Given the description of an element on the screen output the (x, y) to click on. 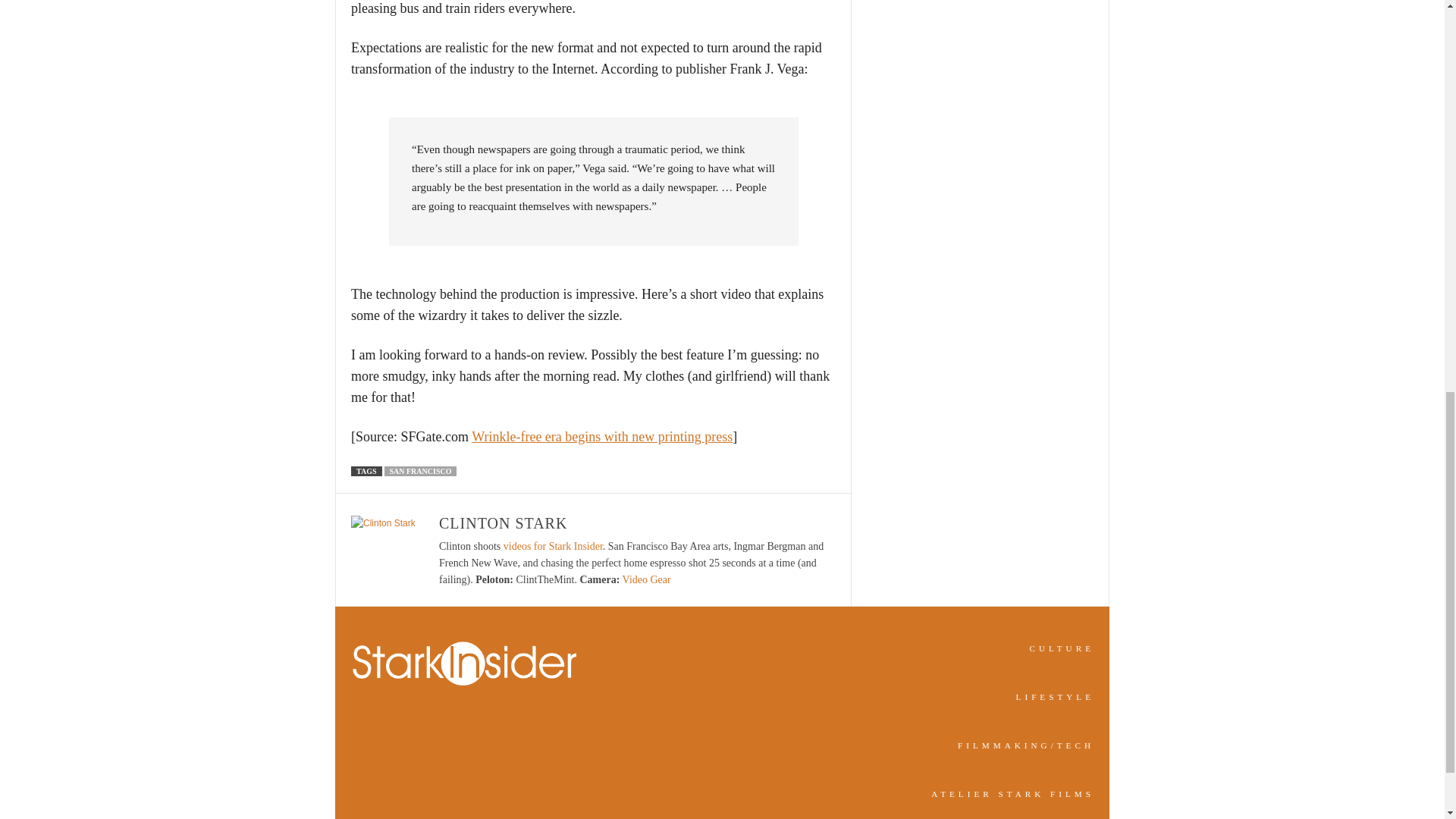
SAN FRANCISCO (420, 470)
CLINTON STARK (503, 523)
Video Gear (647, 579)
ATELIER STARK FILMS (1012, 793)
LIFESTYLE (1055, 696)
Wrinkle-free era begins with new printing press (601, 436)
videos for Stark Insider (552, 546)
CULTURE (1061, 647)
